Given the description of an element on the screen output the (x, y) to click on. 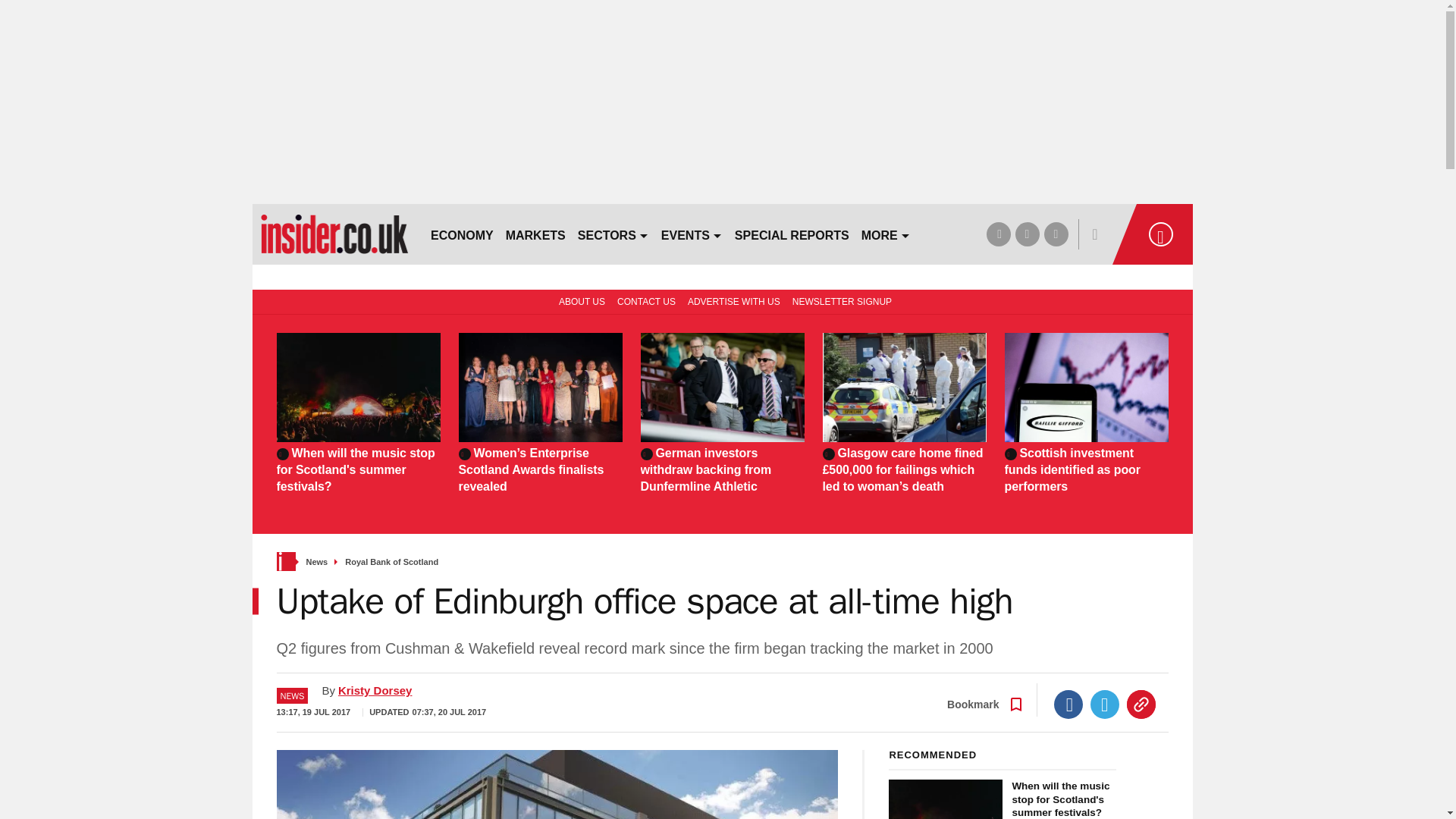
ADVERTISE WITH US (733, 300)
Facebook (1068, 704)
Twitter (1104, 704)
MARKETS (535, 233)
EVENTS (692, 233)
ABOUT US (579, 300)
MORE (886, 233)
twitter (1026, 233)
SECTORS (613, 233)
linkedin (1055, 233)
